Given the description of an element on the screen output the (x, y) to click on. 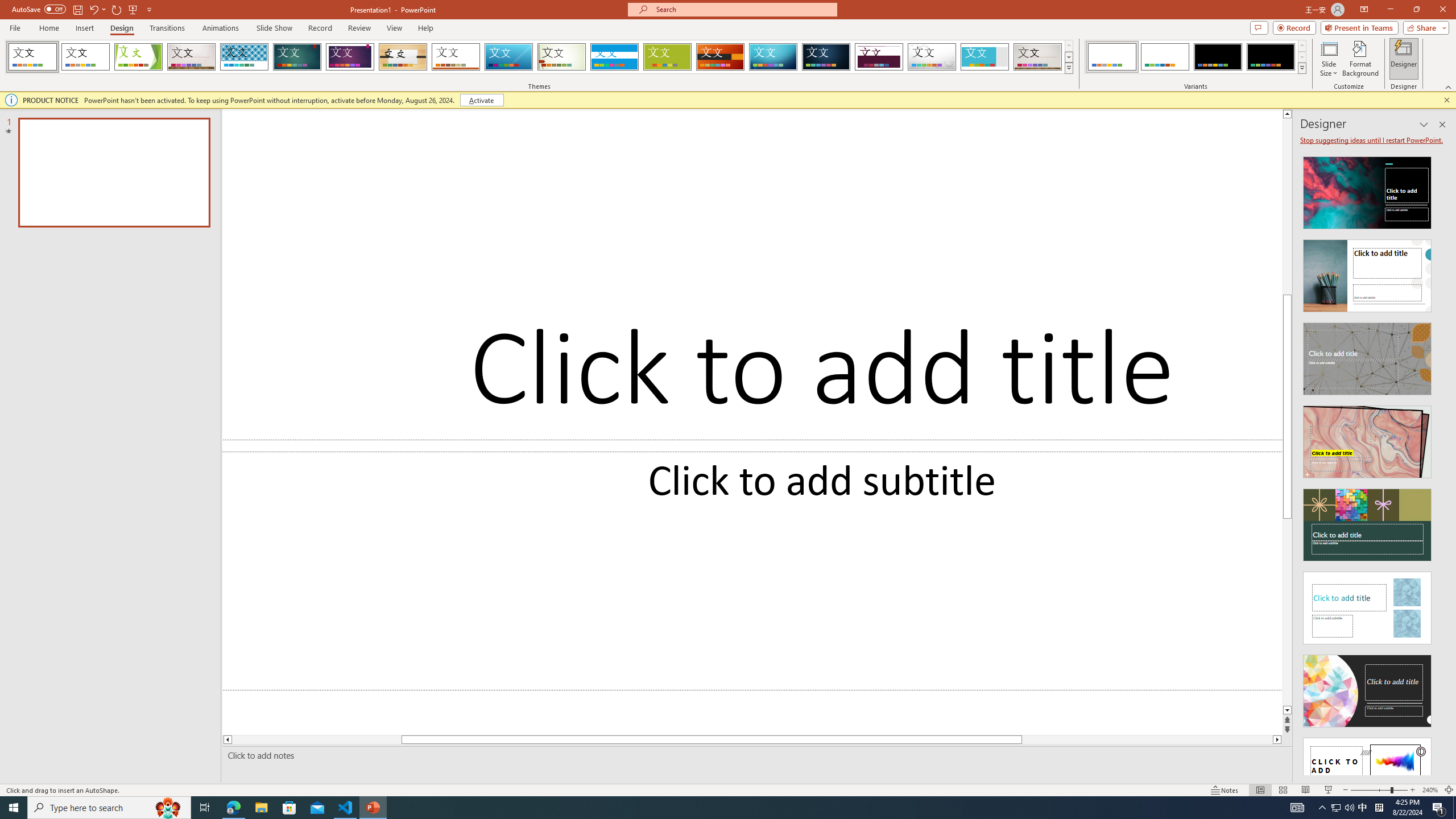
AutomationID: ThemeVariantsGallery (1195, 56)
Dividend (879, 56)
Office Theme Variant 1 (1112, 56)
Class: NetUIScrollBar (1441, 461)
Turn off Designer for this session. (1372, 139)
Integral (244, 56)
